Given the description of an element on the screen output the (x, y) to click on. 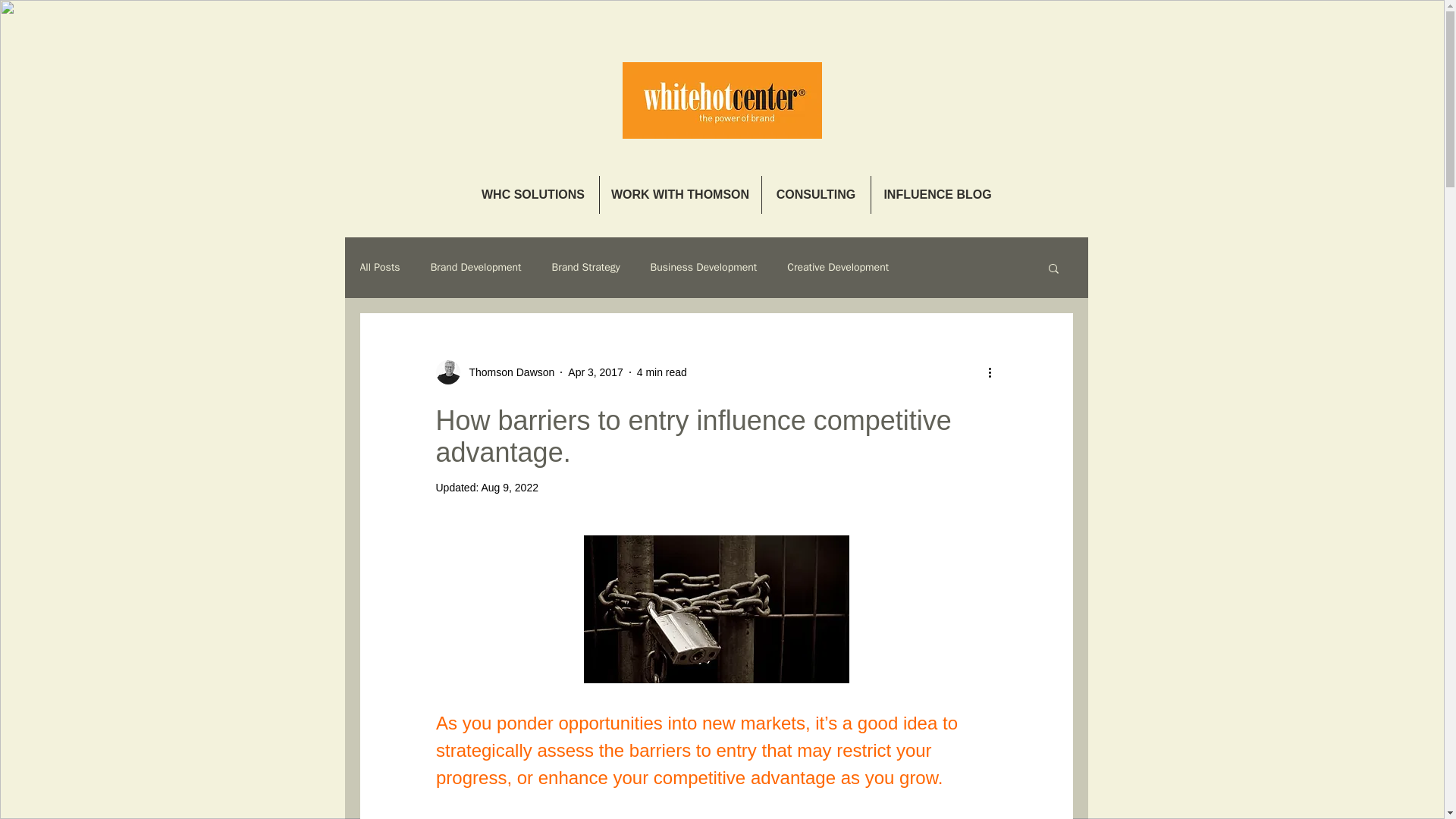
Thomson Dawson (507, 371)
WHC SOLUTIONS (532, 194)
INFLUENCE BLOG (937, 194)
Thomson Dawson (494, 372)
Apr 3, 2017 (595, 371)
CONSULTING (815, 194)
Business Development (703, 267)
Brand Development (475, 267)
Aug 9, 2022 (509, 487)
4 min read (662, 371)
